Given the description of an element on the screen output the (x, y) to click on. 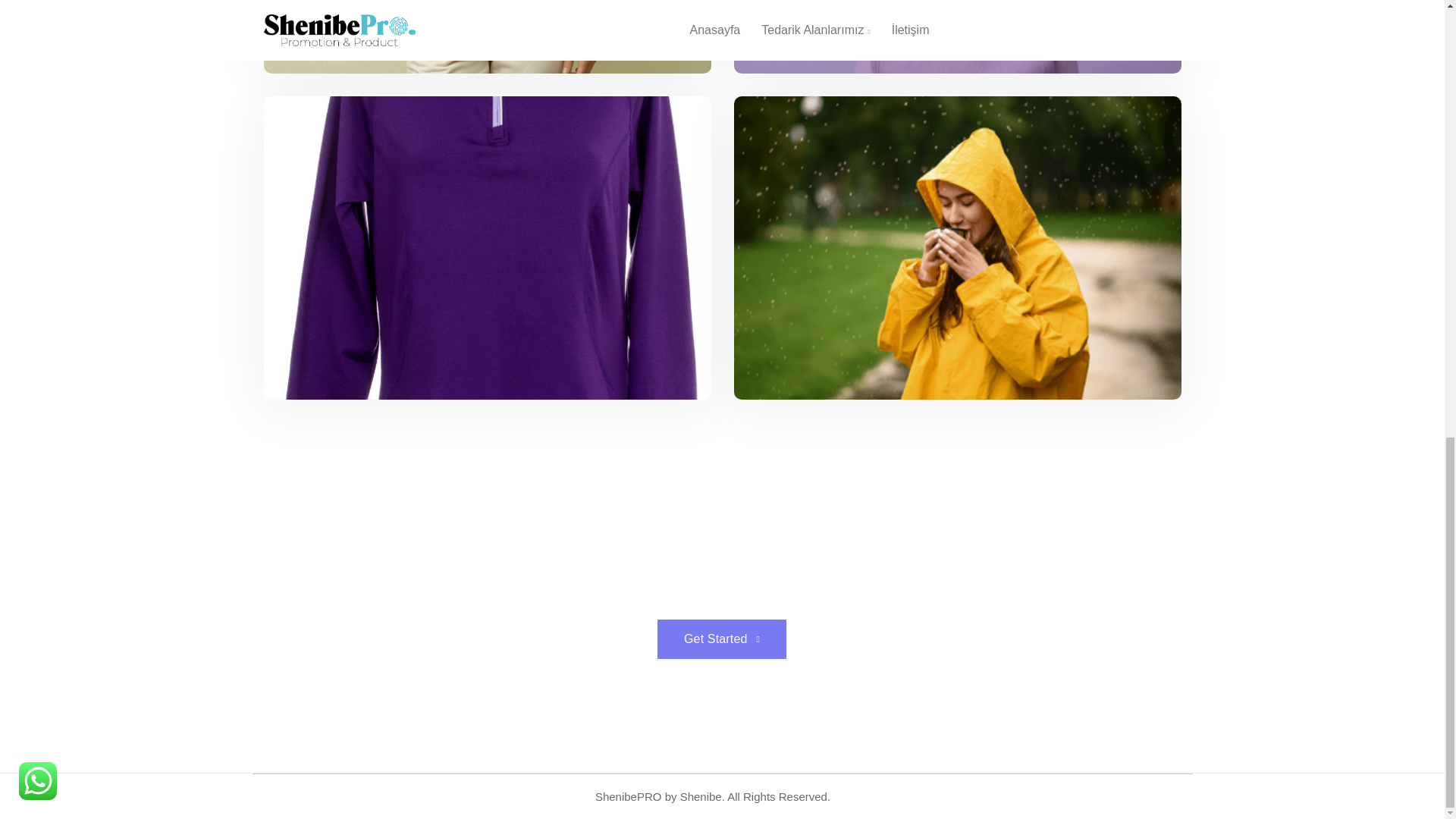
Sweatshirt (487, 36)
Hoodie (956, 36)
